Given the description of an element on the screen output the (x, y) to click on. 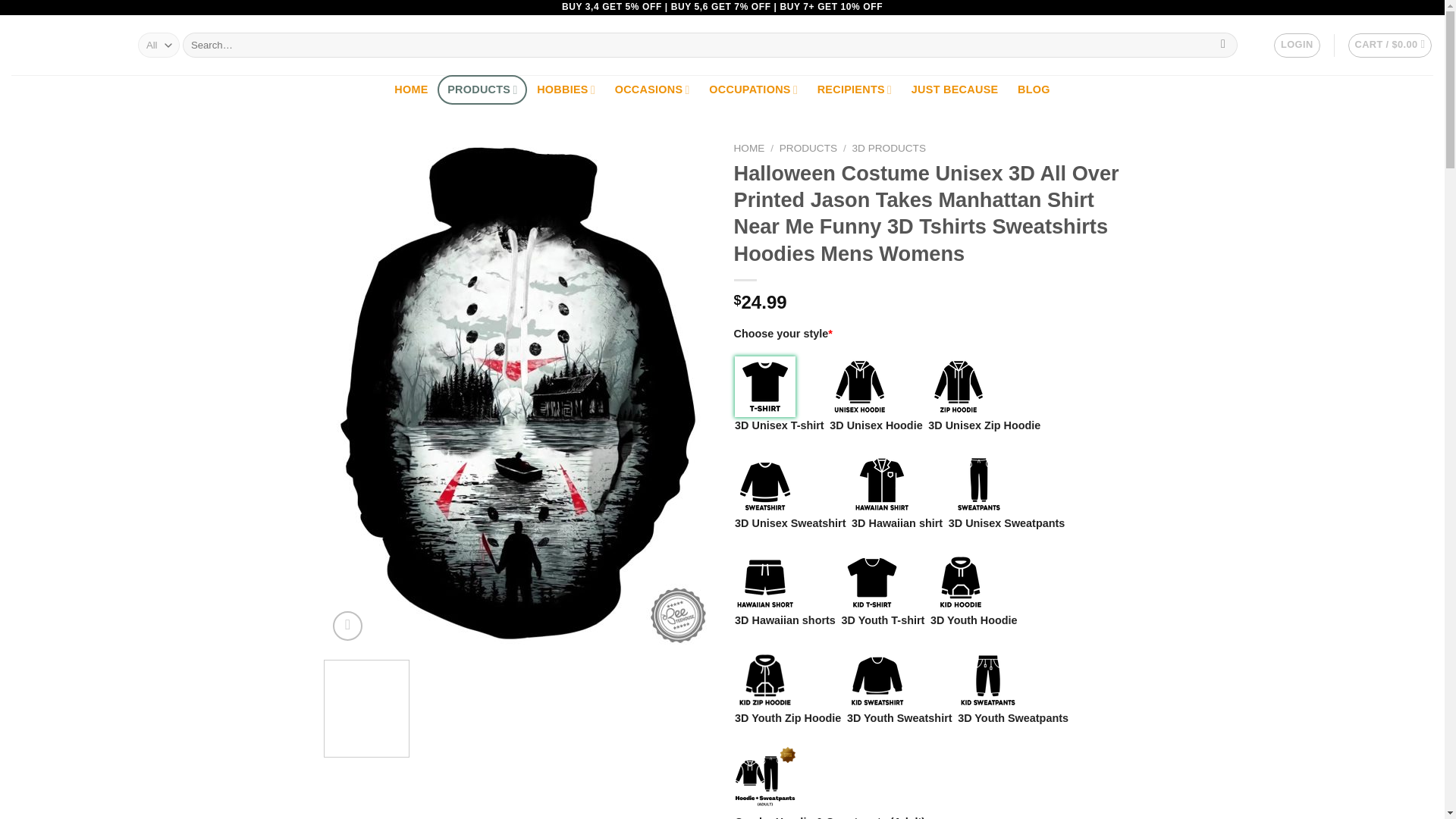
PRODUCTS (482, 89)
HOBBIES (566, 89)
Cart (1390, 45)
Beeteehouse - Just Your Style (63, 45)
Search (1223, 45)
HOME (411, 89)
Zoom (347, 625)
LOGIN (1296, 45)
